Given the description of an element on the screen output the (x, y) to click on. 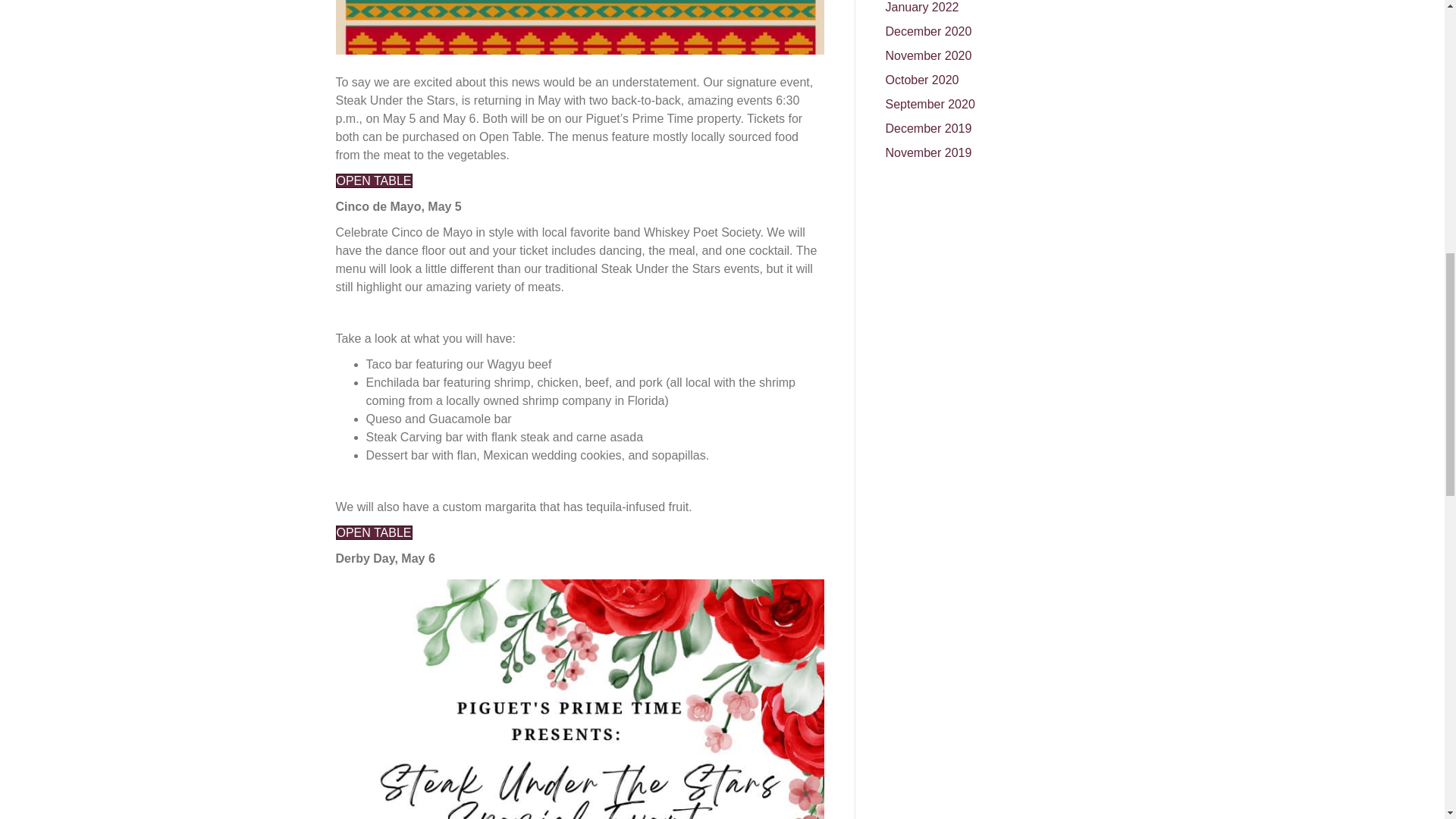
January 2022 (922, 6)
OPEN TABLE (373, 532)
OPEN TABLE (373, 180)
December 2020 (928, 31)
November 2020 (928, 55)
